Given the description of an element on the screen output the (x, y) to click on. 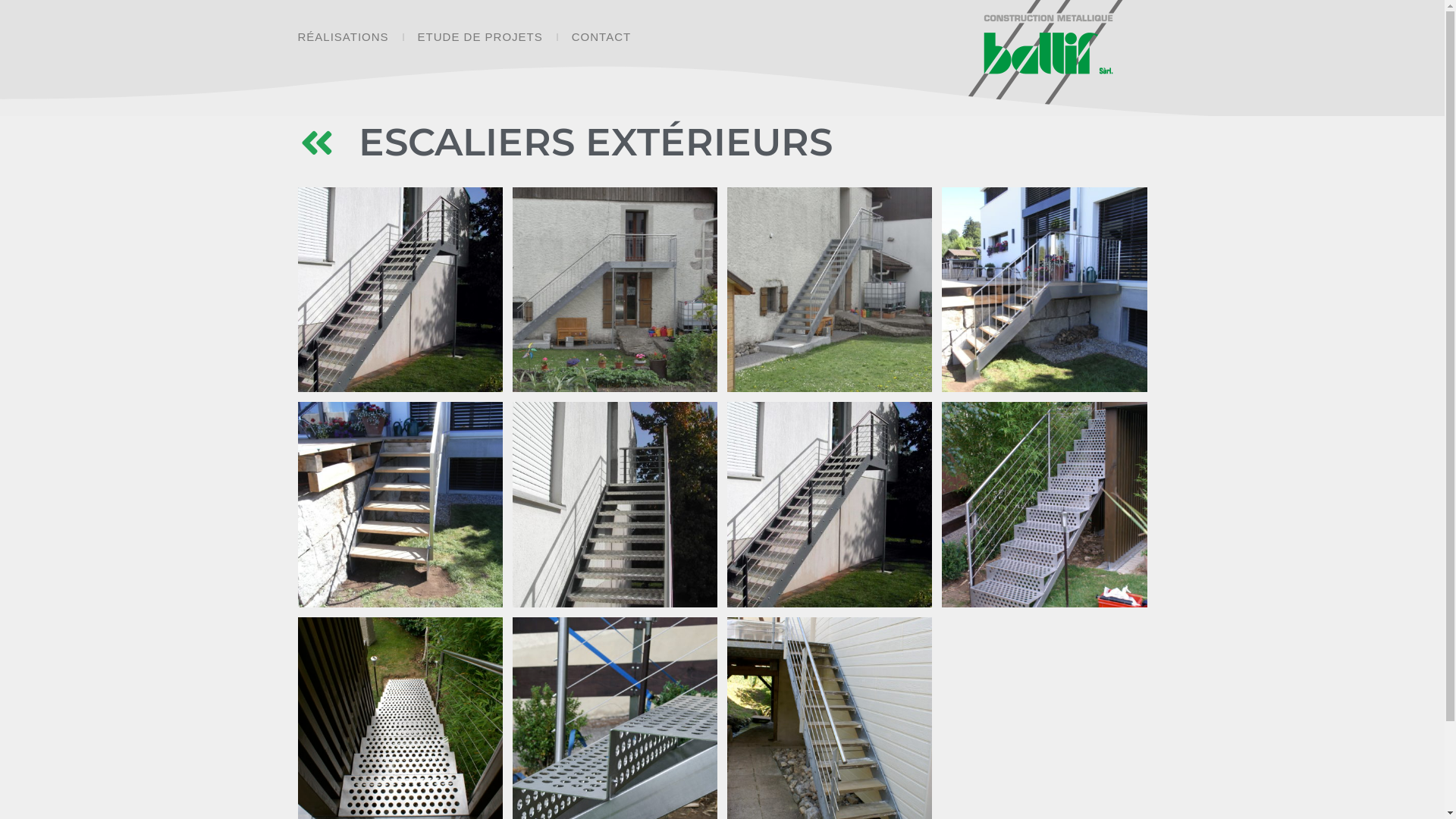
CONTACT Element type: text (601, 37)
ETUDE DE PROJETS Element type: text (480, 37)
